Given the description of an element on the screen output the (x, y) to click on. 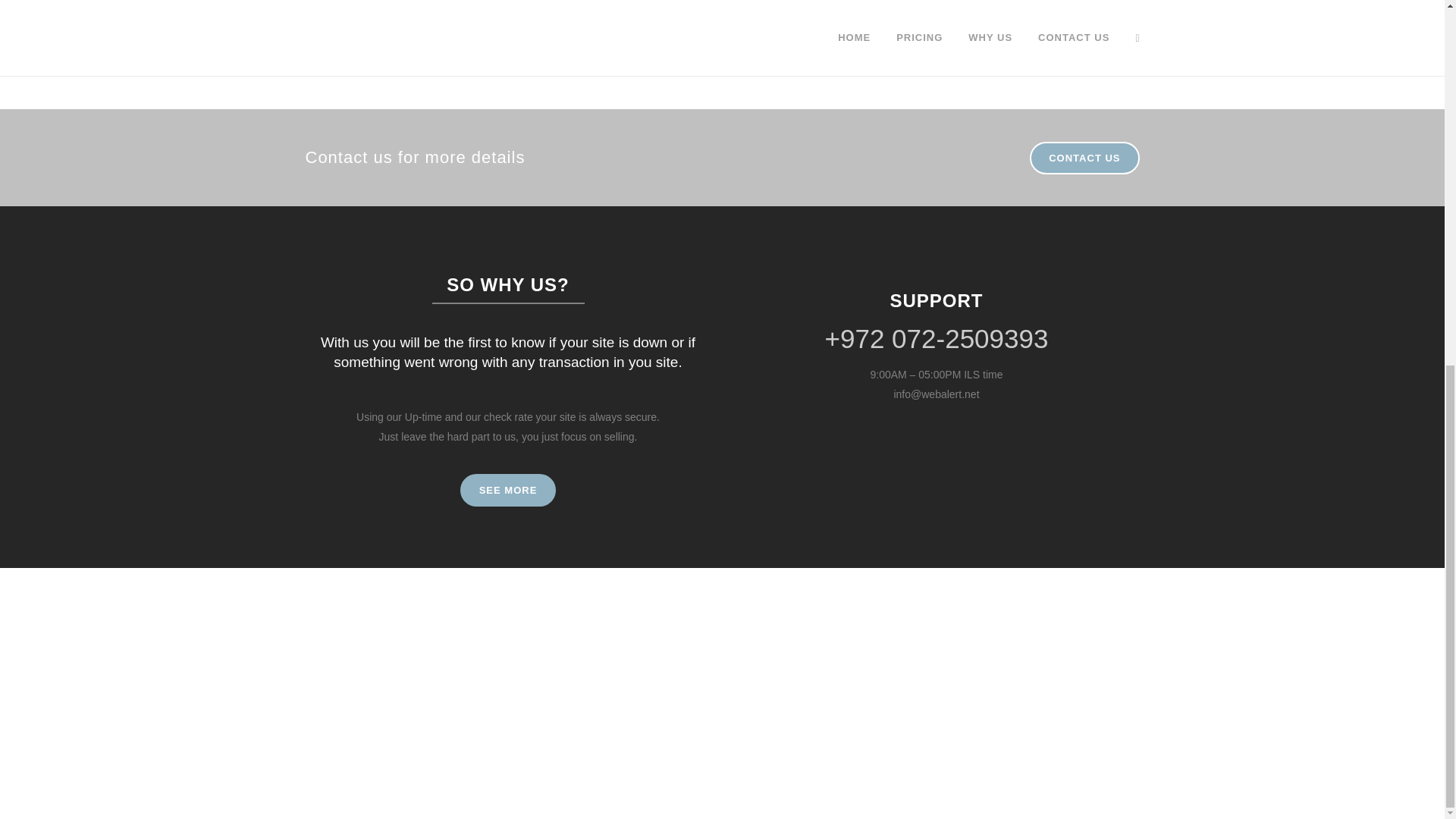
SEE MORE (508, 490)
2 topics (816, 43)
3 topics (758, 20)
2 topics (839, 66)
3 topics (802, 20)
Nature (816, 43)
1 topic (867, 3)
PRICING (621, 5)
2 topics (765, 43)
5 topics (855, 20)
